Given the description of an element on the screen output the (x, y) to click on. 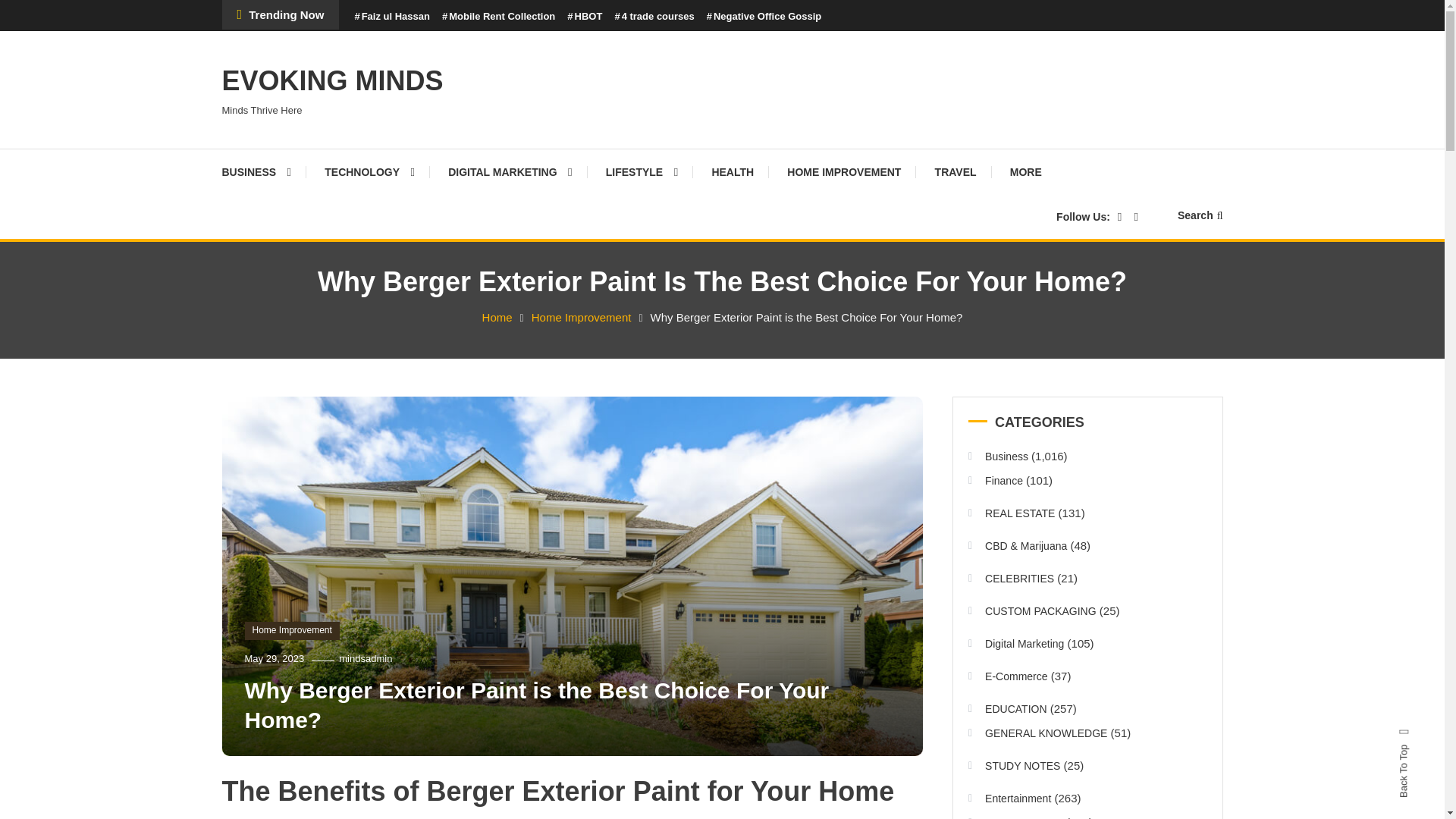
Search (1200, 215)
4 trade courses (654, 16)
Search (768, 432)
BUSINESS (263, 171)
HEALTH (731, 171)
HOME IMPROVEMENT (843, 171)
EVOKING MINDS (331, 80)
MORE (1025, 171)
Mobile Rent Collection (498, 16)
TECHNOLOGY (368, 171)
